Given the description of an element on the screen output the (x, y) to click on. 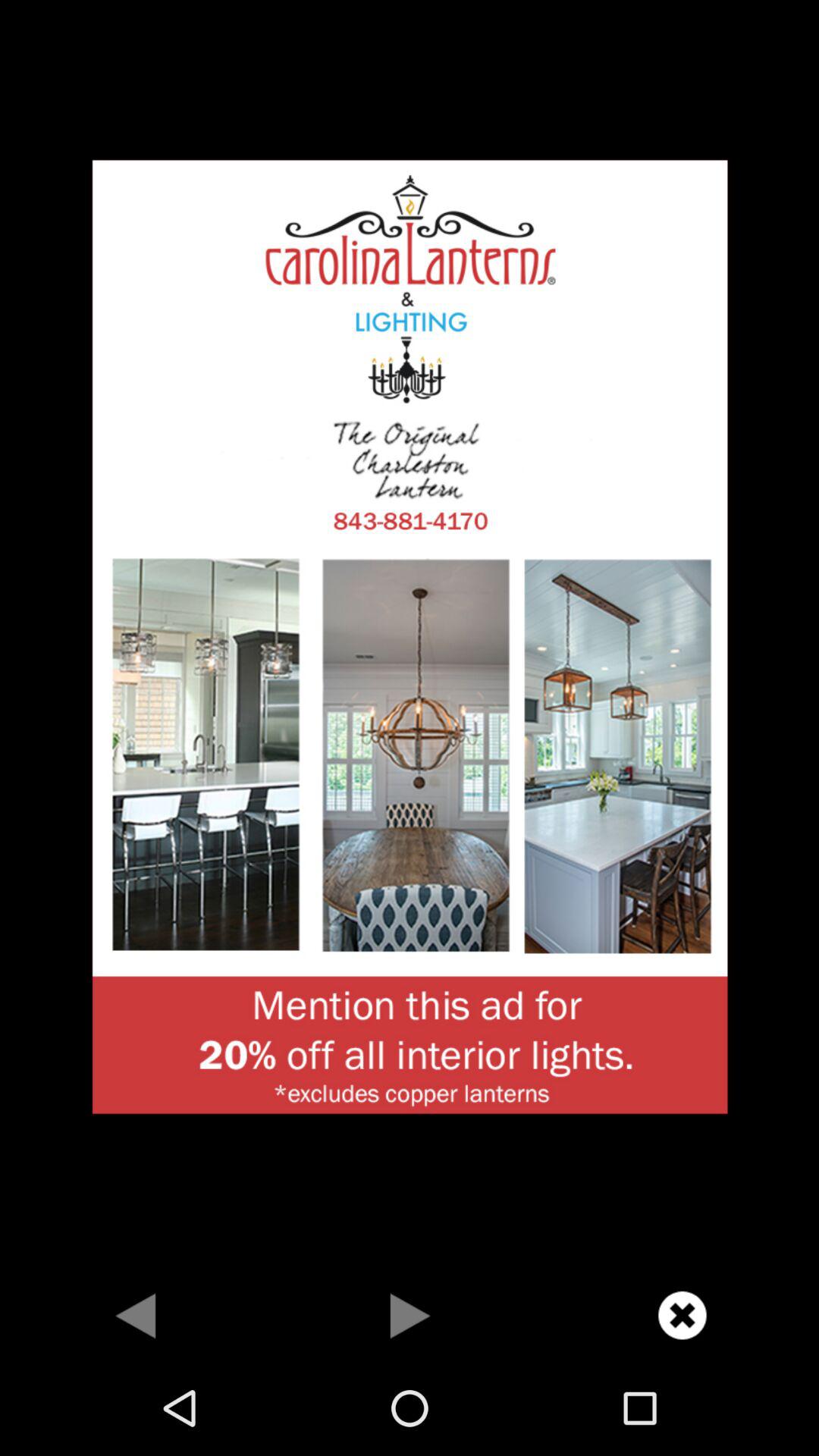
open the advertisement (409, 635)
